Given the description of an element on the screen output the (x, y) to click on. 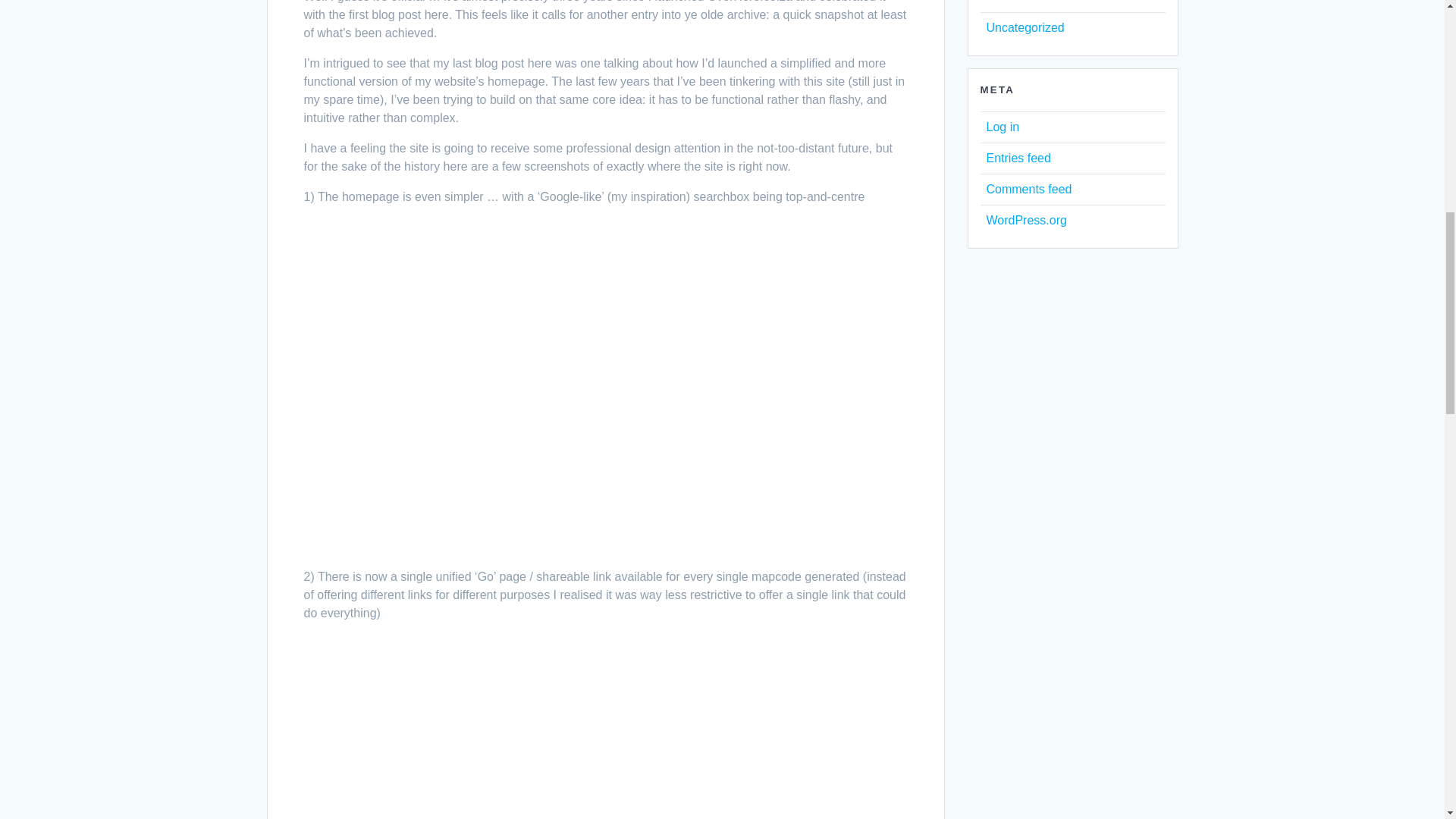
WordPress.org (1025, 219)
Comments feed (1028, 188)
Entries feed (1017, 157)
Uncategorized (1024, 27)
Log in (1002, 126)
